Given the description of an element on the screen output the (x, y) to click on. 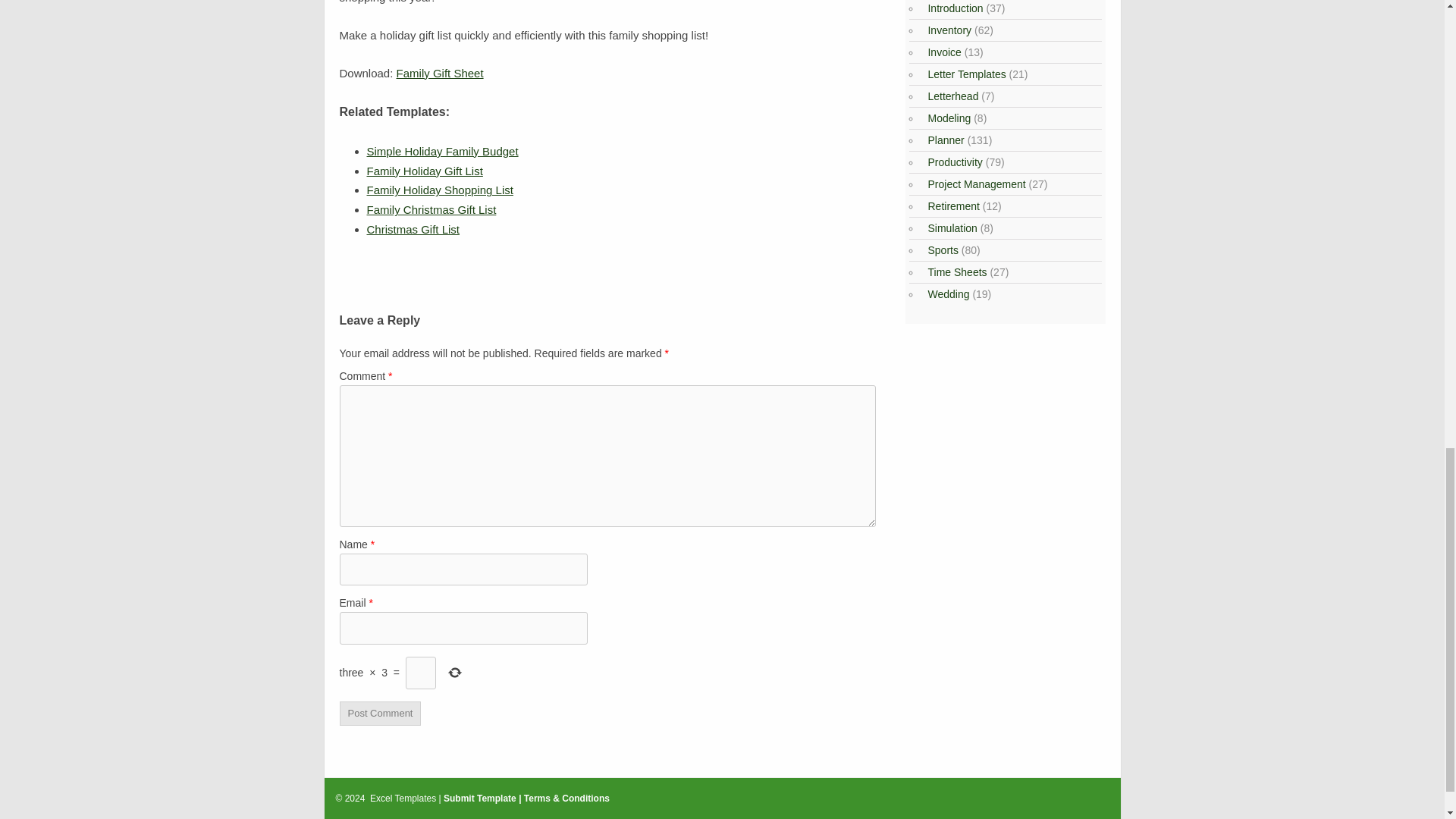
November 23, 2015 (431, 209)
November 23, 2015 (439, 189)
Family Holiday Gift List (424, 170)
November 23, 2015 (442, 151)
November 1, 2009 (413, 228)
Post Comment (380, 713)
Family Gift Sheet (439, 72)
Christmas Gift List (413, 228)
Family Holiday Shopping List (439, 189)
Simple Holiday Family Budget (442, 151)
